Given the description of an element on the screen output the (x, y) to click on. 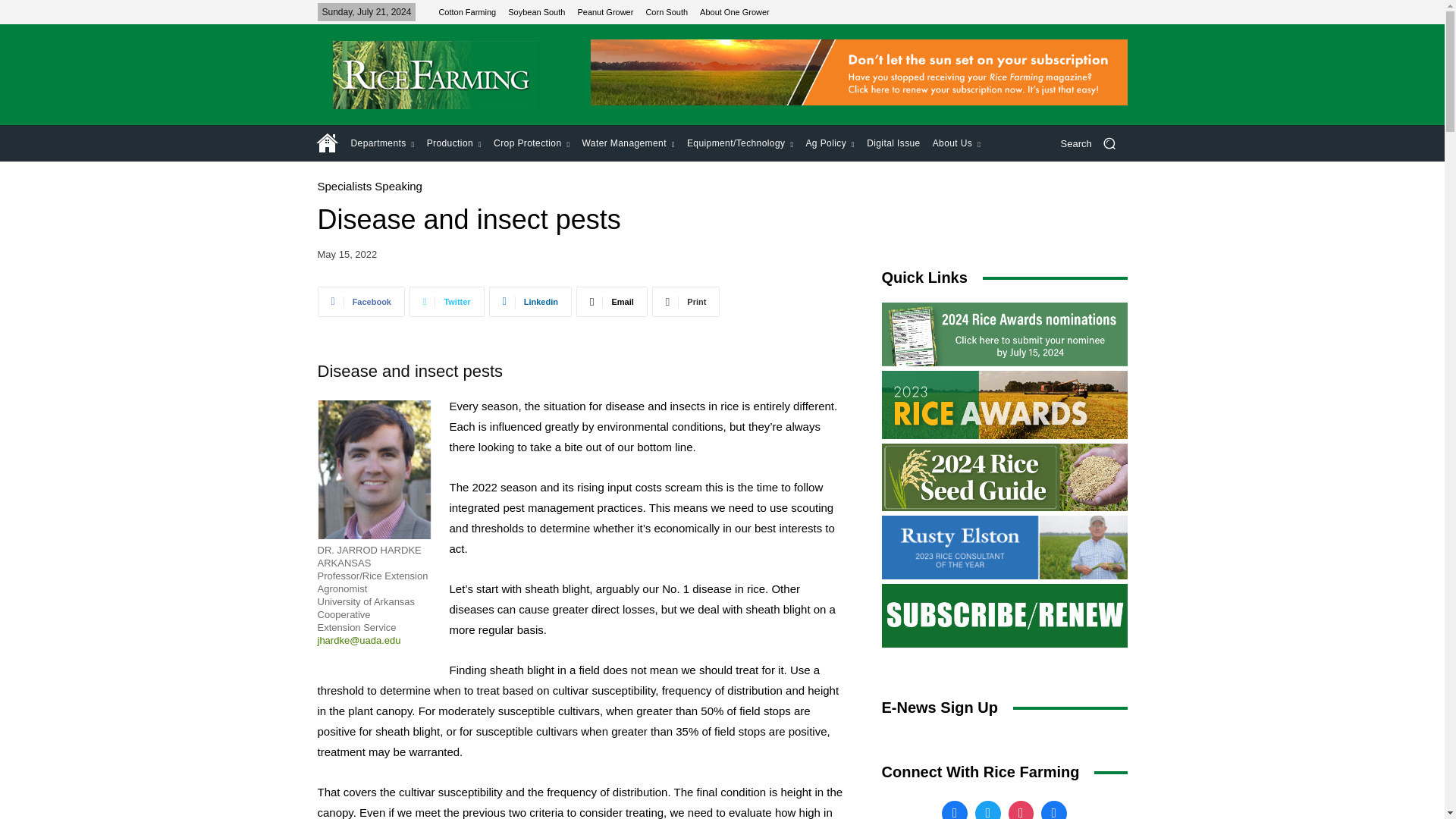
About One Grower (735, 11)
Email (611, 301)
Production (453, 143)
Rice Farming Header Logo (435, 74)
Twitter (446, 301)
Facebook (360, 301)
Soybean South (536, 11)
Corn South (666, 11)
Print (686, 301)
Linkedin (530, 301)
Departments (381, 143)
Cotton Farming (467, 11)
Peanut Grower (604, 11)
